Given the description of an element on the screen output the (x, y) to click on. 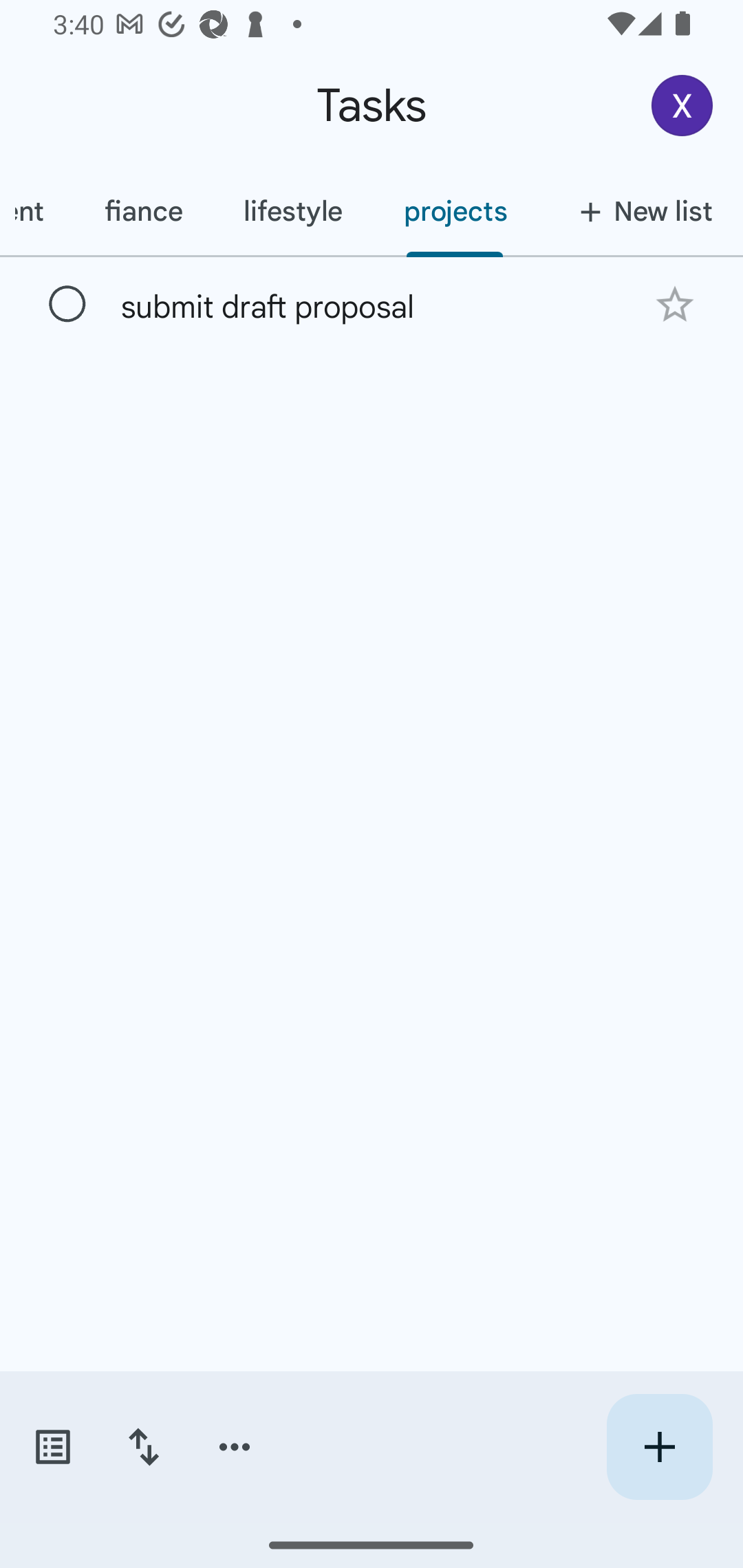
fiance (142, 211)
lifestyle (292, 211)
New list (640, 211)
Add star (674, 303)
Mark as complete (67, 304)
Switch task lists (52, 1447)
Create new task (659, 1446)
Change sort order (143, 1446)
More options (234, 1446)
